Given the description of an element on the screen output the (x, y) to click on. 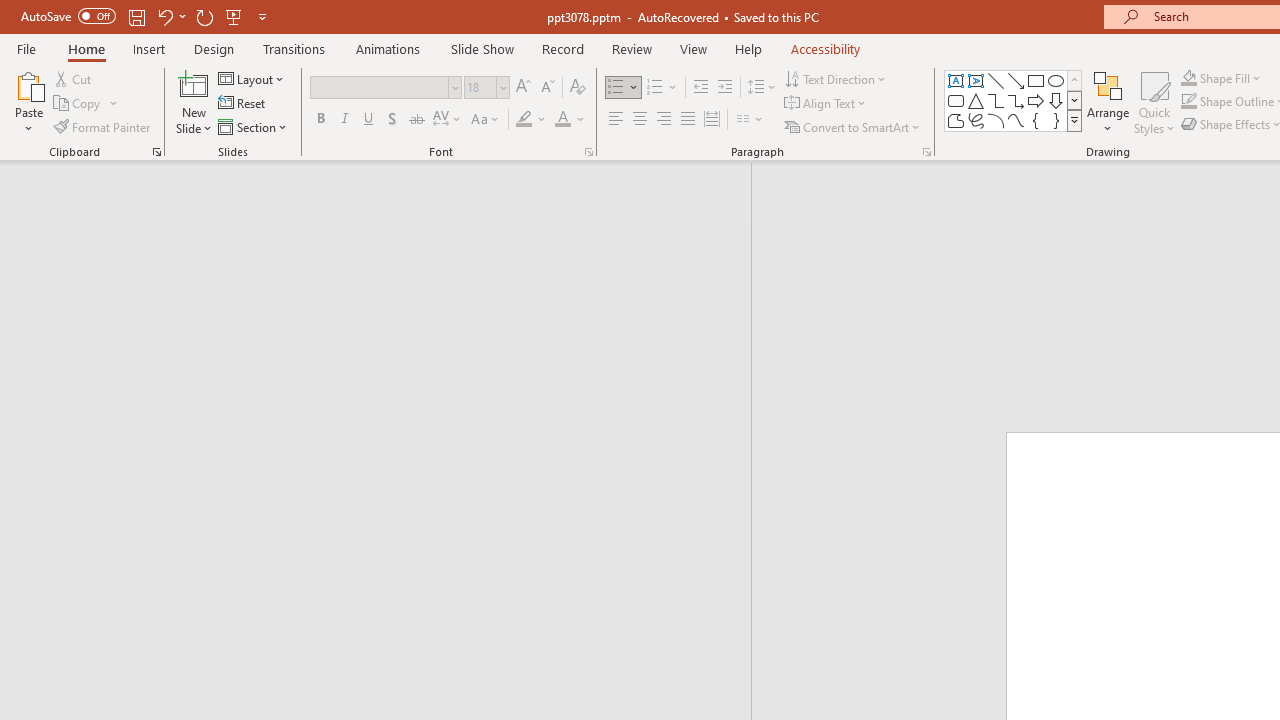
Connector: Elbow Arrow (1016, 100)
Class: NetUIImage (1075, 120)
Align Left (616, 119)
Font (379, 87)
Shapes (1074, 120)
Align Right (663, 119)
Columns (750, 119)
Shape Outline Green, Accent 1 (1188, 101)
Justify (687, 119)
Right Brace (1055, 120)
Arrow: Right (1035, 100)
